Given the description of an element on the screen output the (x, y) to click on. 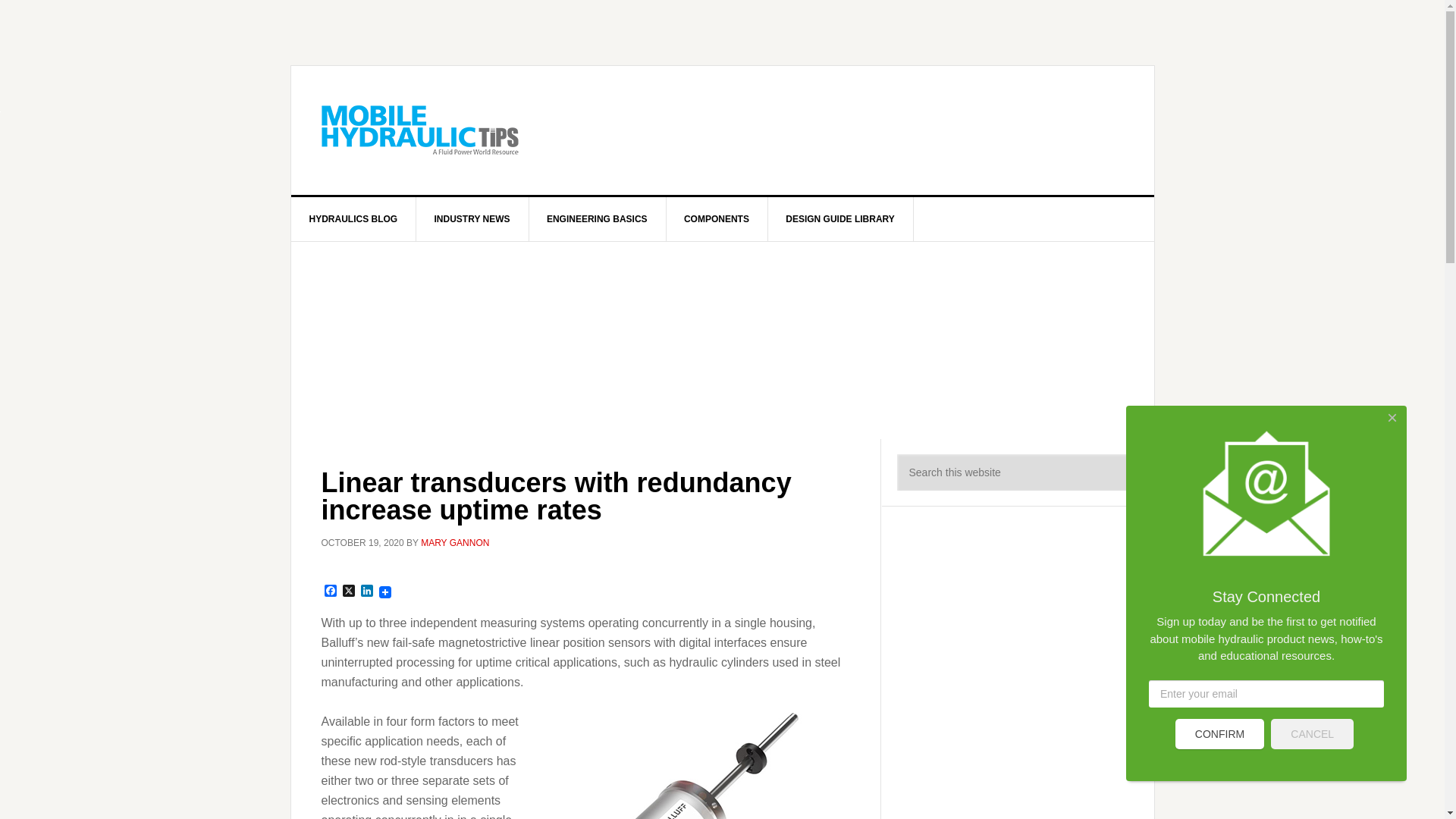
MOBILE HYDRAULIC TIPS (419, 130)
LinkedIn (366, 591)
Facebook (330, 591)
X (348, 591)
X (348, 591)
ENGINEERING BASICS (597, 218)
DESIGN GUIDE LIBRARY (840, 218)
3rd party ad content (848, 130)
HYDRAULICS BLOG (353, 218)
COMPONENTS (716, 218)
LinkedIn (366, 591)
MARY GANNON (454, 542)
INDUSTRY NEWS (472, 218)
